Given the description of an element on the screen output the (x, y) to click on. 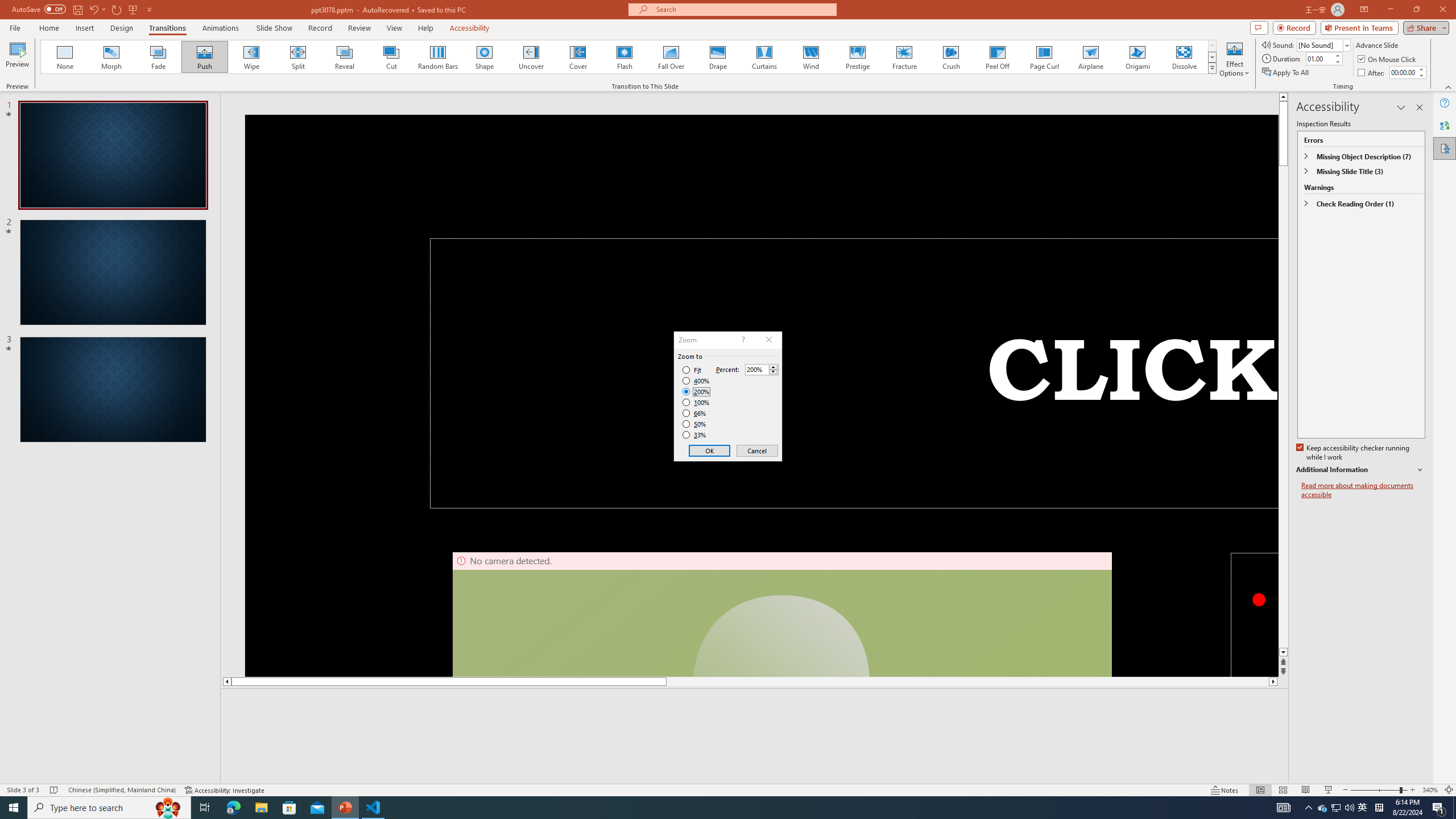
Prestige (857, 56)
Fracture (903, 56)
Percent (761, 369)
400% (696, 380)
